Given the description of an element on the screen output the (x, y) to click on. 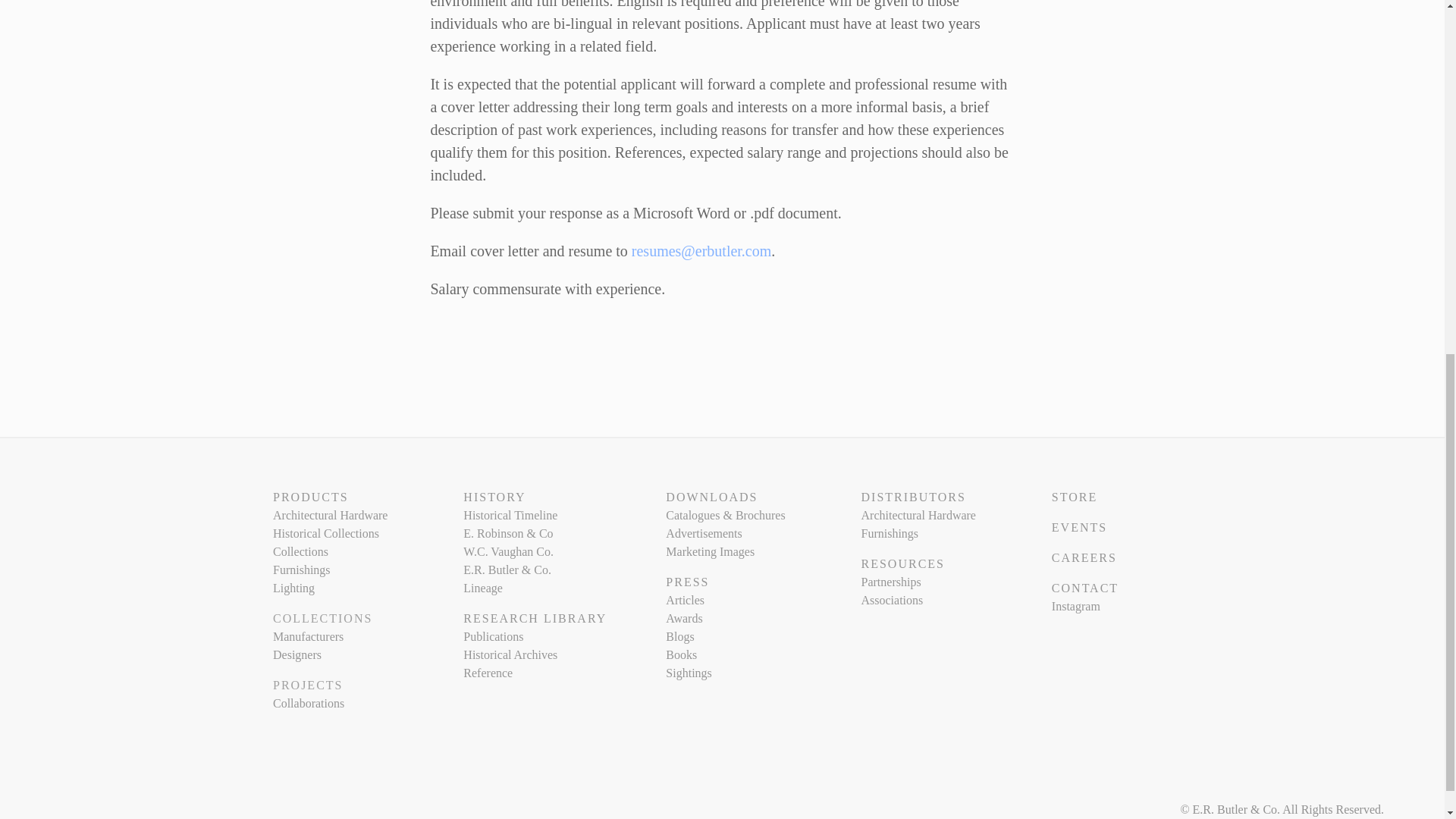
Historical Collections (325, 533)
Collaborations (308, 703)
Lighting (293, 587)
DOWNLOADS (711, 496)
Publications (492, 635)
Lineage (482, 587)
Architectural Hardware (330, 514)
W.C. Vaughan Co. (508, 551)
RESEARCH LIBRARY (535, 617)
Advertisements (703, 533)
Marketing Images (709, 551)
HISTORY (494, 496)
Designers (297, 654)
Reference (487, 672)
Collections (301, 551)
